Given the description of an element on the screen output the (x, y) to click on. 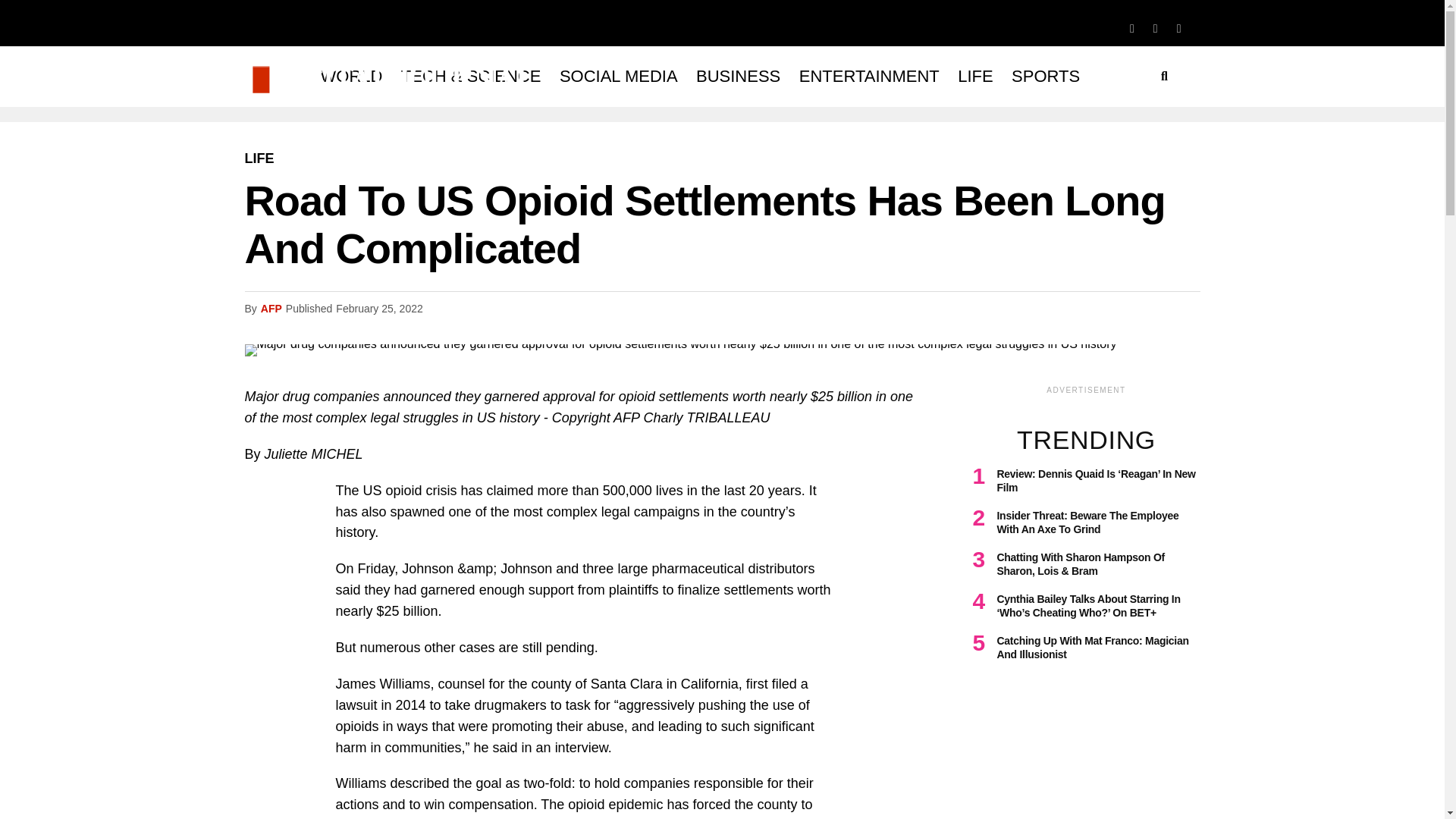
SOCIAL MEDIA (618, 76)
BUSINESS (737, 76)
Posts by AFP (271, 308)
AFP (271, 308)
SPORTS (1045, 76)
ENTERTAINMENT (869, 76)
WORLD (351, 76)
LIFE (258, 158)
